Given the description of an element on the screen output the (x, y) to click on. 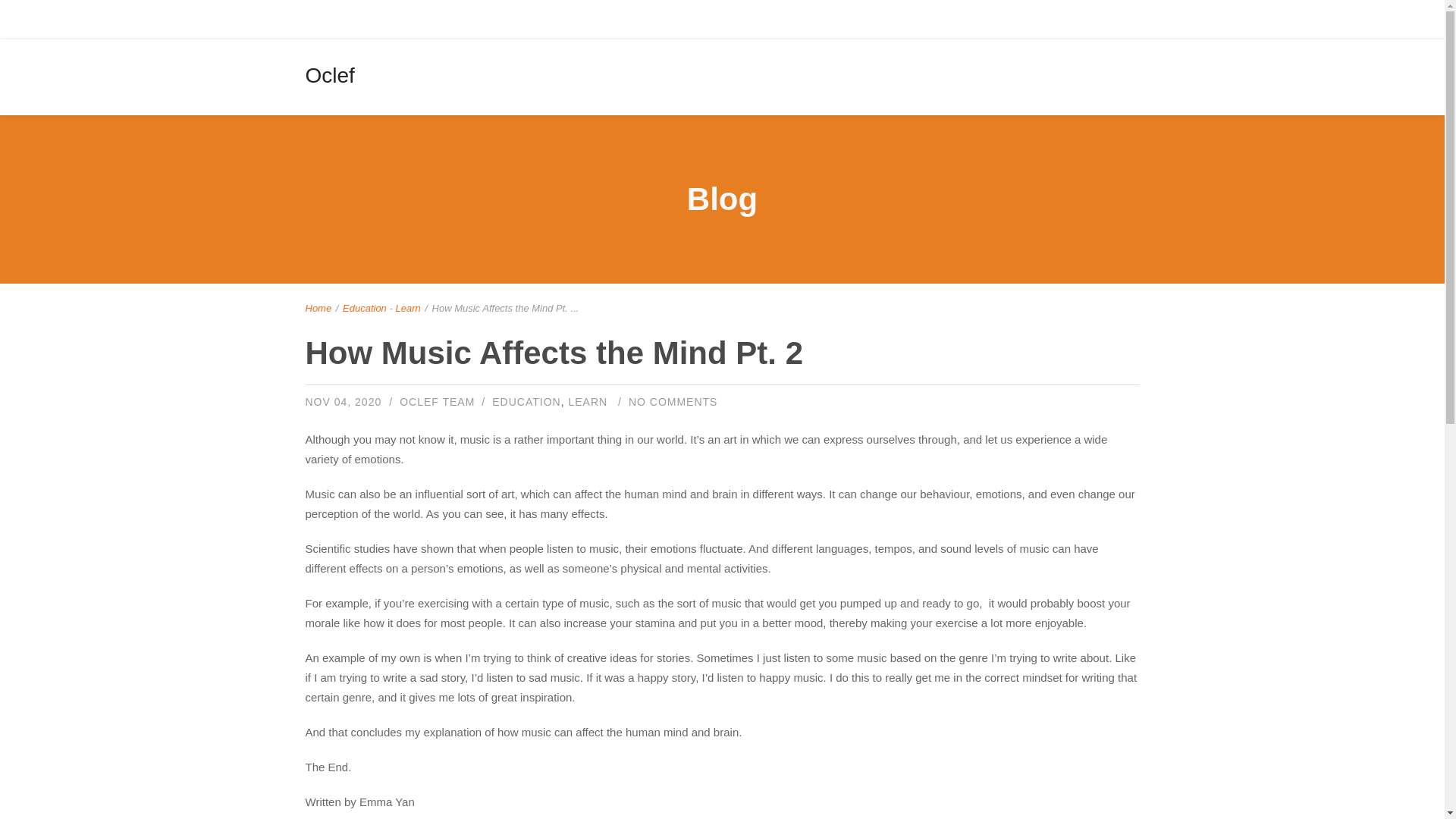
OCLEF TEAM (436, 401)
Oclef (328, 75)
NOV 04, 2020 (342, 401)
Oclef (328, 75)
Learn (407, 307)
LEARN (587, 401)
Home (317, 307)
Oclef team (436, 401)
Education (364, 307)
Wednesday, November, 2020, 7:04 pm (342, 401)
Comment on How Music Affects the Mind Pt. 2 (672, 401)
NO COMMENTS (672, 401)
EDUCATION (526, 401)
